Given the description of an element on the screen output the (x, y) to click on. 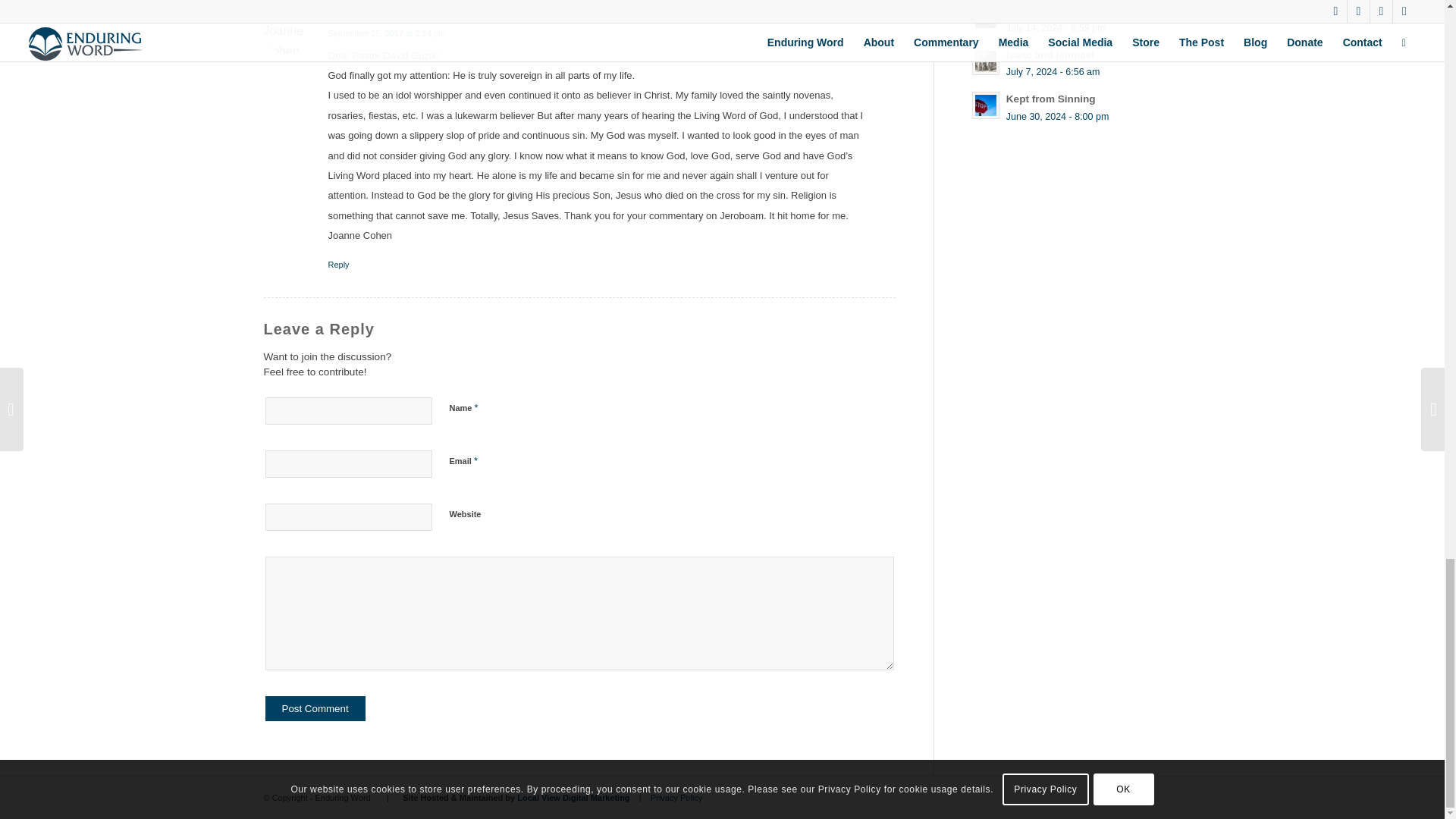
Words of Faith - Enduring Word (985, 16)
Read: Words of Faith (1042, 10)
Post Comment (314, 708)
Read: Isaac and Ishmael (985, 61)
Read: Words of Faith (985, 17)
